Given the description of an element on the screen output the (x, y) to click on. 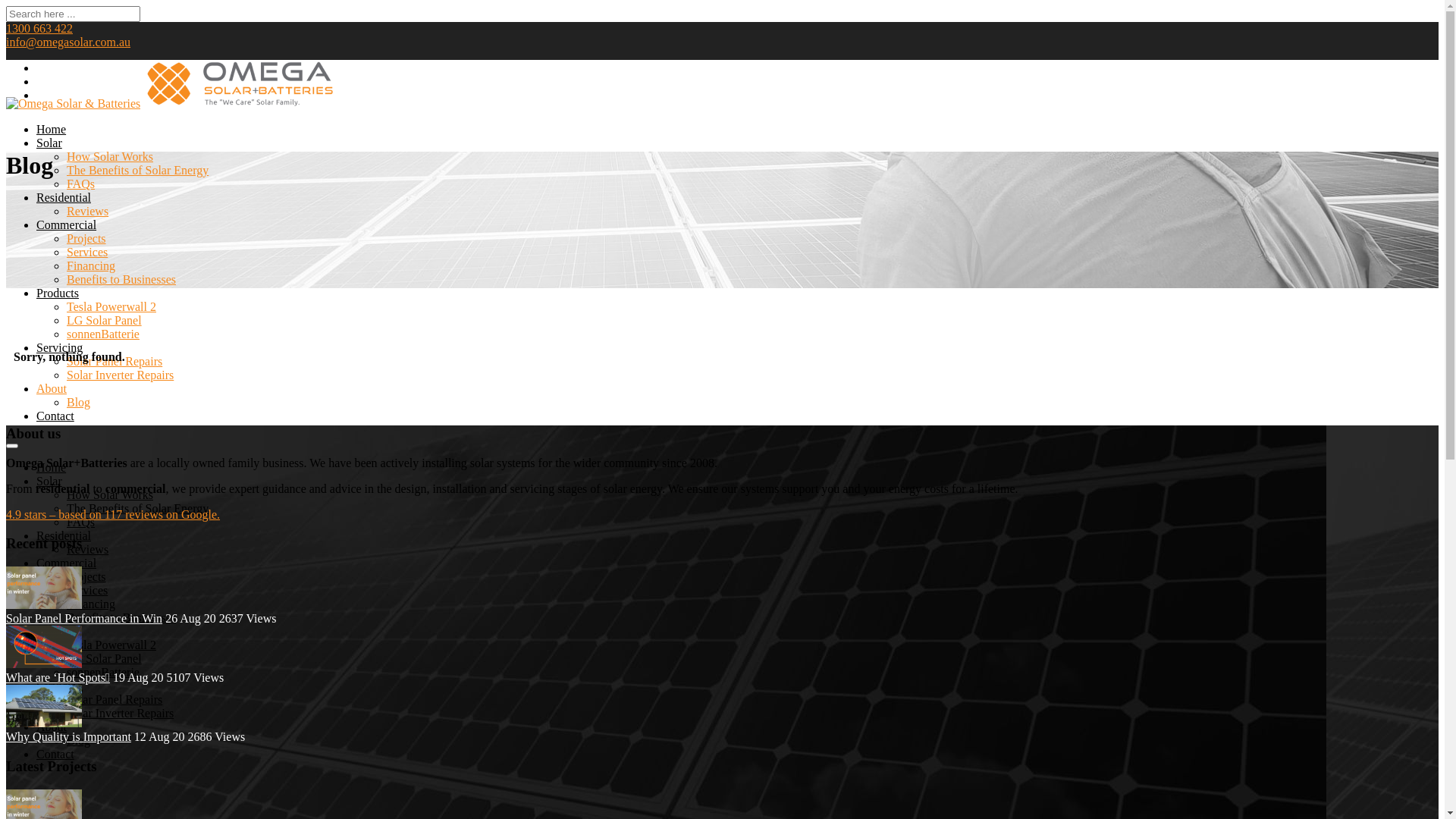
Solar Panel Performance in Win Element type: text (84, 617)
Facebook Element type: hover (42, 67)
Services Element type: text (86, 589)
Solar Inverter Repairs Element type: text (119, 374)
Residential Element type: text (63, 197)
sonnenBatterie Element type: text (102, 671)
Financing Element type: text (90, 265)
Commercial Element type: text (66, 562)
Reviews Element type: text (87, 210)
Solar Panel Repairs Element type: text (114, 699)
Solar Panel Repairs Element type: text (114, 360)
Projects Element type: text (86, 238)
info@omegasolar.com.au Element type: text (68, 41)
Servicing Element type: text (59, 685)
Residential Element type: text (63, 535)
Solar Panel Performance in Winter Element type: hover (43, 587)
About Element type: text (51, 726)
Home Element type: text (50, 467)
Benefits to Businesses Element type: text (120, 617)
Benefits to Businesses Element type: text (120, 279)
FAQs Element type: text (80, 183)
How Solar Works Element type: text (109, 156)
Solar Inverter Repairs Element type: text (119, 712)
Commercial Element type: text (66, 224)
Services Element type: text (86, 251)
Hot_spots_on_solar_panels Element type: hover (43, 646)
Tesla Powerwall 2 Element type: text (111, 306)
Omega Solar & Batteries Element type: hover (239, 103)
Financing Element type: text (90, 603)
How Solar Works Element type: text (109, 494)
Reviews Element type: text (87, 548)
Why Quality is Important Element type: text (68, 736)
LG Solar Panel Element type: text (103, 319)
sonnenBatterie Element type: text (102, 333)
Blog Element type: text (78, 740)
FAQs Element type: text (80, 521)
Products Element type: text (57, 630)
Contact Element type: text (55, 753)
Blog Element type: text (78, 401)
Omega Solar & Batteries Element type: hover (73, 103)
Home Element type: text (50, 128)
Products Element type: text (57, 292)
LG Solar Panel Element type: text (103, 658)
LinkedIn Element type: hover (41, 81)
Tesla Powerwall 2 Element type: text (111, 644)
Projects Element type: text (86, 576)
Youtube Element type: hover (43, 94)
The Benefits of Solar Energy Element type: text (137, 508)
Servicing Element type: text (59, 347)
Solar Element type: text (49, 480)
1300 663 422 Element type: text (39, 27)
Contact Element type: text (55, 415)
The Benefits of Solar Energy Element type: text (137, 169)
About Element type: text (51, 388)
Solar Element type: text (49, 142)
